Given the description of an element on the screen output the (x, y) to click on. 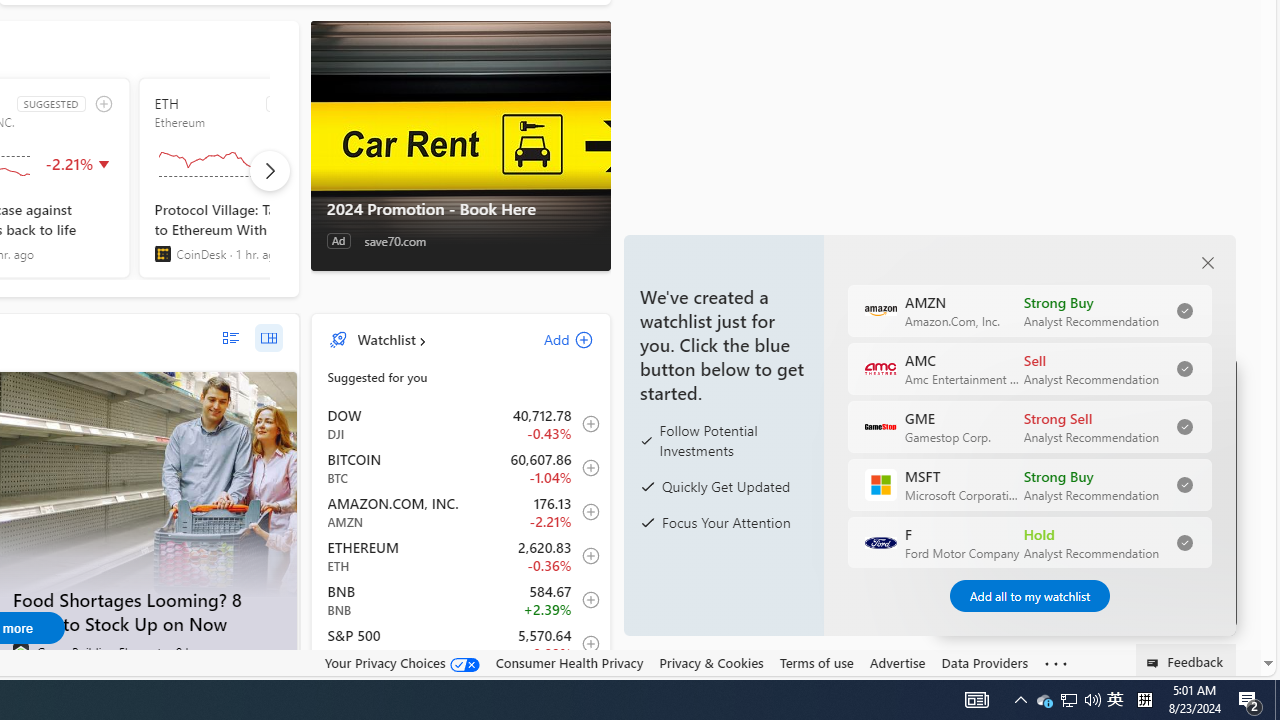
2024 Promotion - Book Here (459, 145)
AMZN AMAZON.COM, INC. decrease 176.13 -3.98 -2.21% item2 (461, 512)
ETH Ethereum decrease 2,620.83 -9.43 -0.36% item3 (461, 556)
Advertise (897, 662)
INX S&P 500 decrease 5,570.64 -50.21 -0.89% item5 (461, 644)
Class: feedback_link_icon-DS-EntryPoint1-1 (1156, 663)
BTC Bitcoin decrease 60,607.86 -629.74 -1.04% item1 (461, 467)
Class: oneFooter_seeMore-DS-EntryPoint1-1 (1055, 663)
ETH SUGGESTED Ethereum (258, 178)
Consumer Health Privacy (569, 662)
Data Providers (983, 663)
Privacy & Cookies (711, 662)
2024 Promotion - Book Here (460, 209)
